Given the description of an element on the screen output the (x, y) to click on. 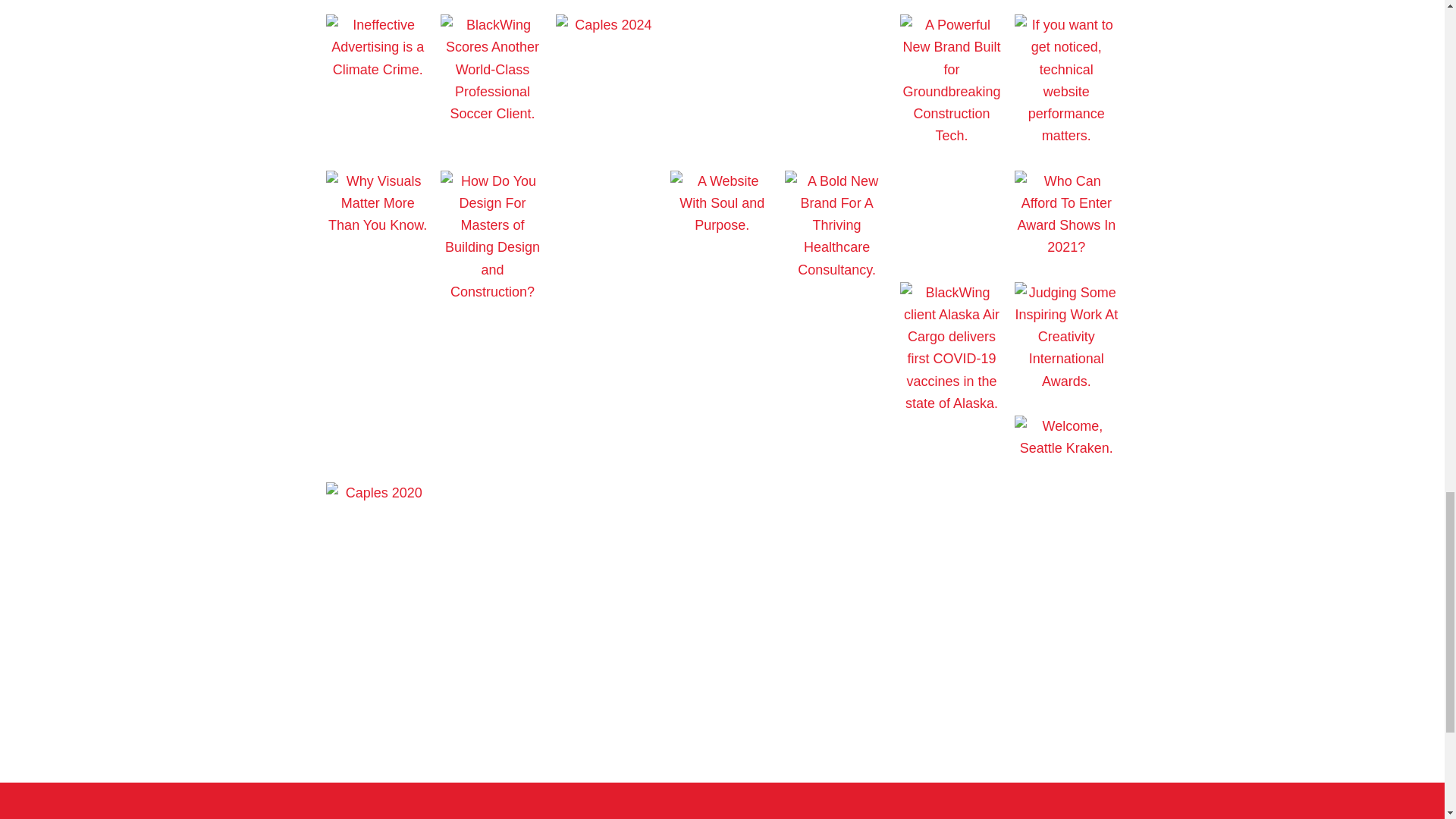
Who Can Afford To Enter Award Shows In 2021? (1066, 246)
A Stunning Website Metamorphosis. (607, 181)
A Website With Soul and Purpose. (721, 224)
A Bold New Brand For A Thriving Healthcare Consultancy. (836, 269)
Why Visuals Matter More Than You Know. (377, 224)
